Given the description of an element on the screen output the (x, y) to click on. 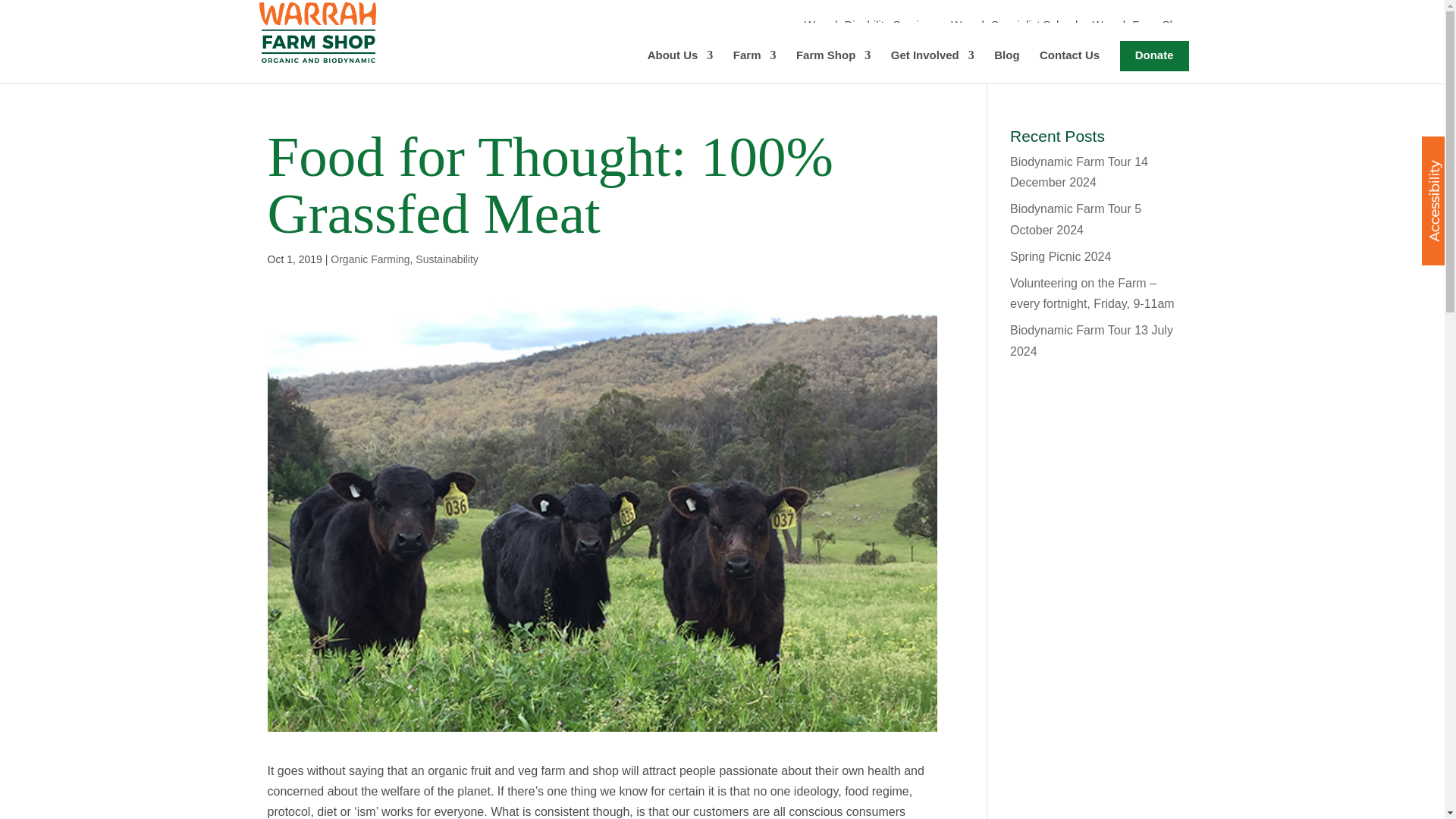
Sustainability (446, 259)
Contact Us (1069, 66)
Farm (754, 66)
About Us (680, 66)
Warrah Farm Shop (1141, 26)
Organic Farming (369, 259)
Warrah Disability Services (871, 26)
Warrah Specialist School (1013, 26)
Get Involved (932, 66)
Farm Shop (833, 66)
